Given the description of an element on the screen output the (x, y) to click on. 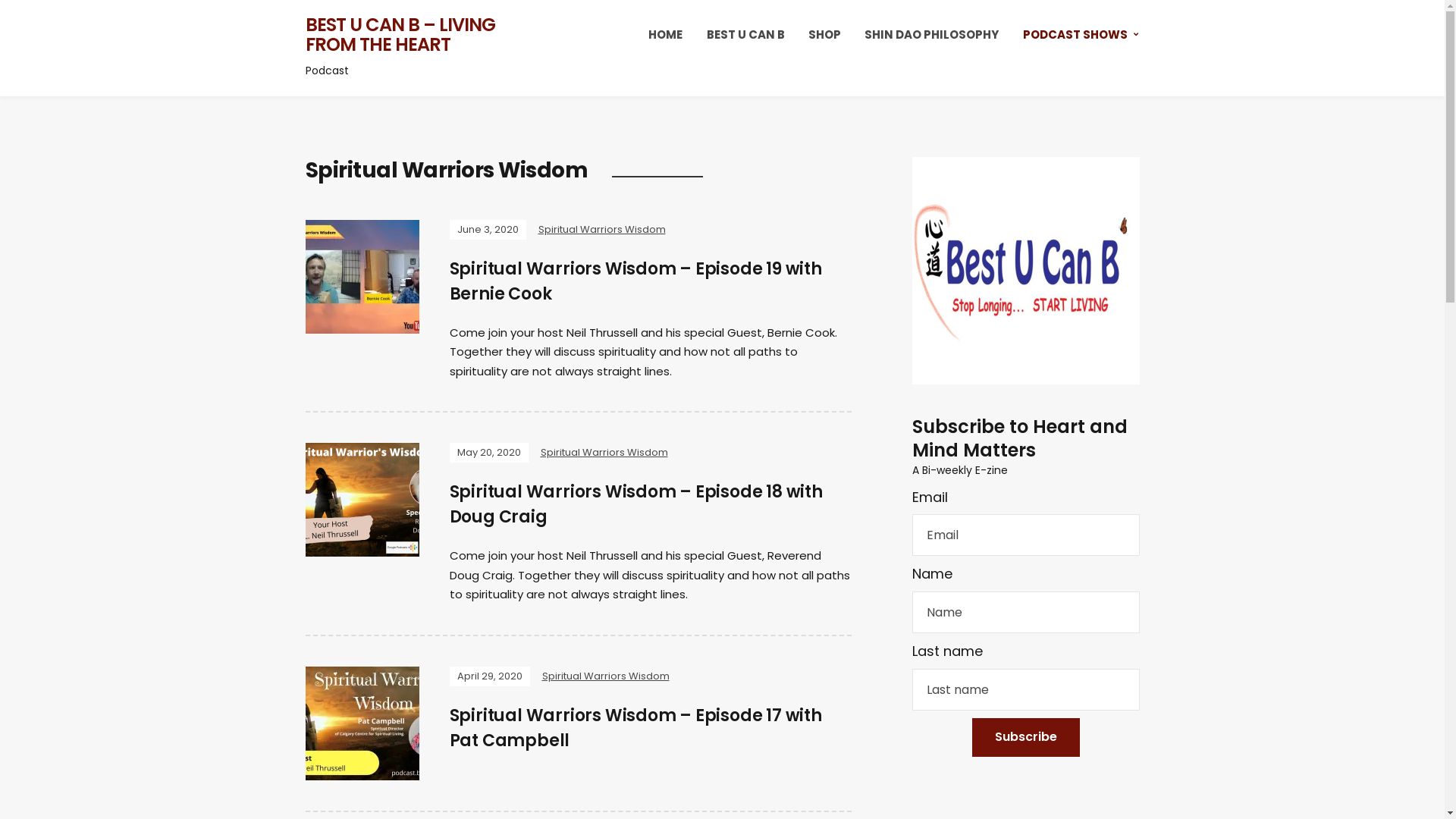
SHIN DAO PHILOSOPHY Element type: text (931, 34)
HOME Element type: text (665, 34)
PODCAST SHOWS Element type: text (1079, 34)
Spiritual Warriors Wisdom Element type: text (604, 675)
Spiritual Warriors Wisdom Element type: text (603, 452)
SHOP Element type: text (824, 34)
Spiritual Warriors Wisdom Element type: text (601, 229)
Subscribe Element type: text (1025, 737)
BEST U CAN B Element type: text (745, 34)
